Given the description of an element on the screen output the (x, y) to click on. 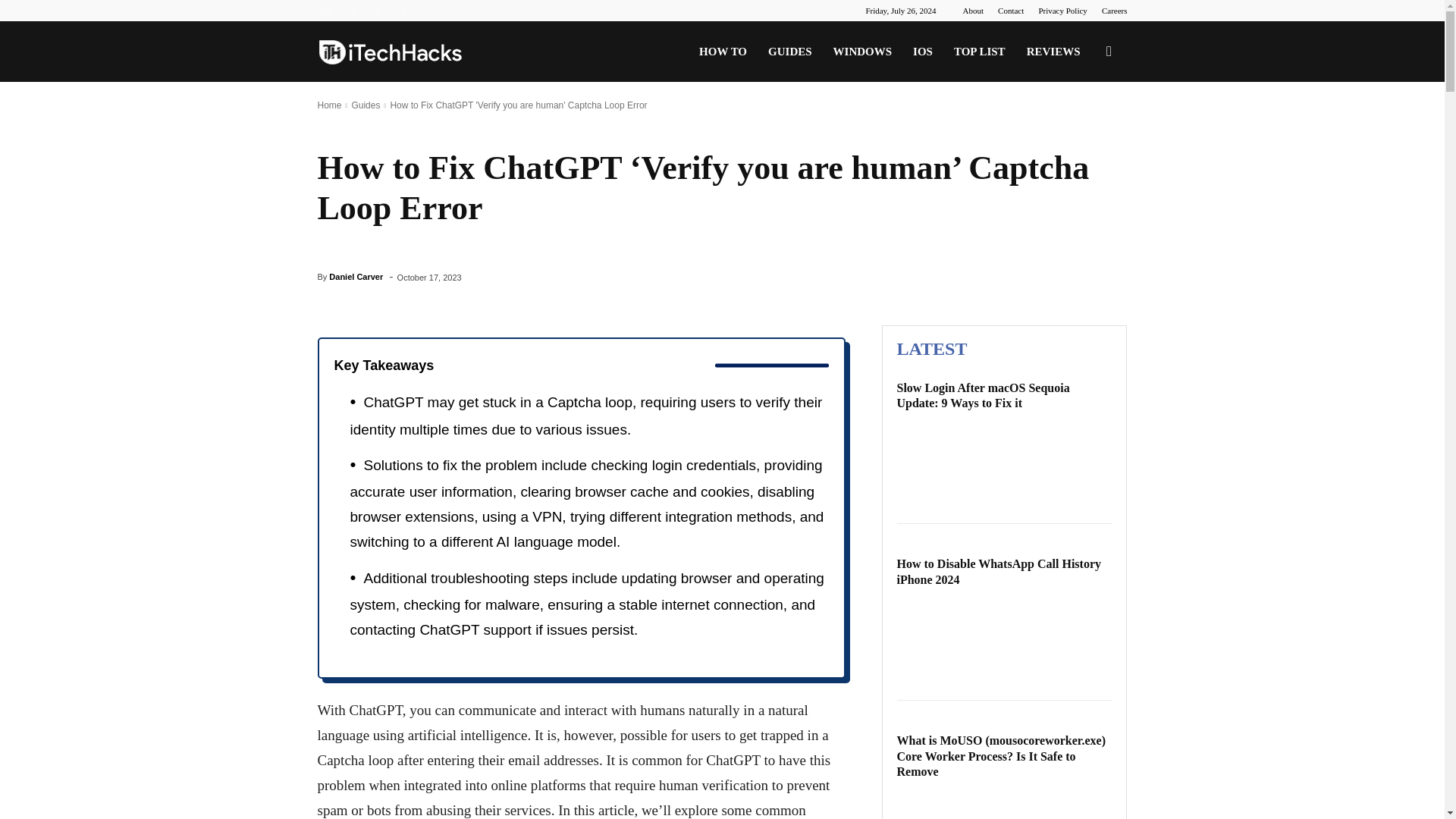
Careers (1114, 10)
Home (328, 104)
TOP LIST (979, 51)
Search (1085, 124)
HOW TO (722, 51)
iTech Hacks (390, 51)
Twitter (379, 10)
GUIDES (789, 51)
Youtube (403, 10)
View all posts in Guides (365, 104)
Contact (1010, 10)
Guides (365, 104)
Pinterest (353, 10)
IOS (922, 51)
WINDOWS (862, 51)
